Given the description of an element on the screen output the (x, y) to click on. 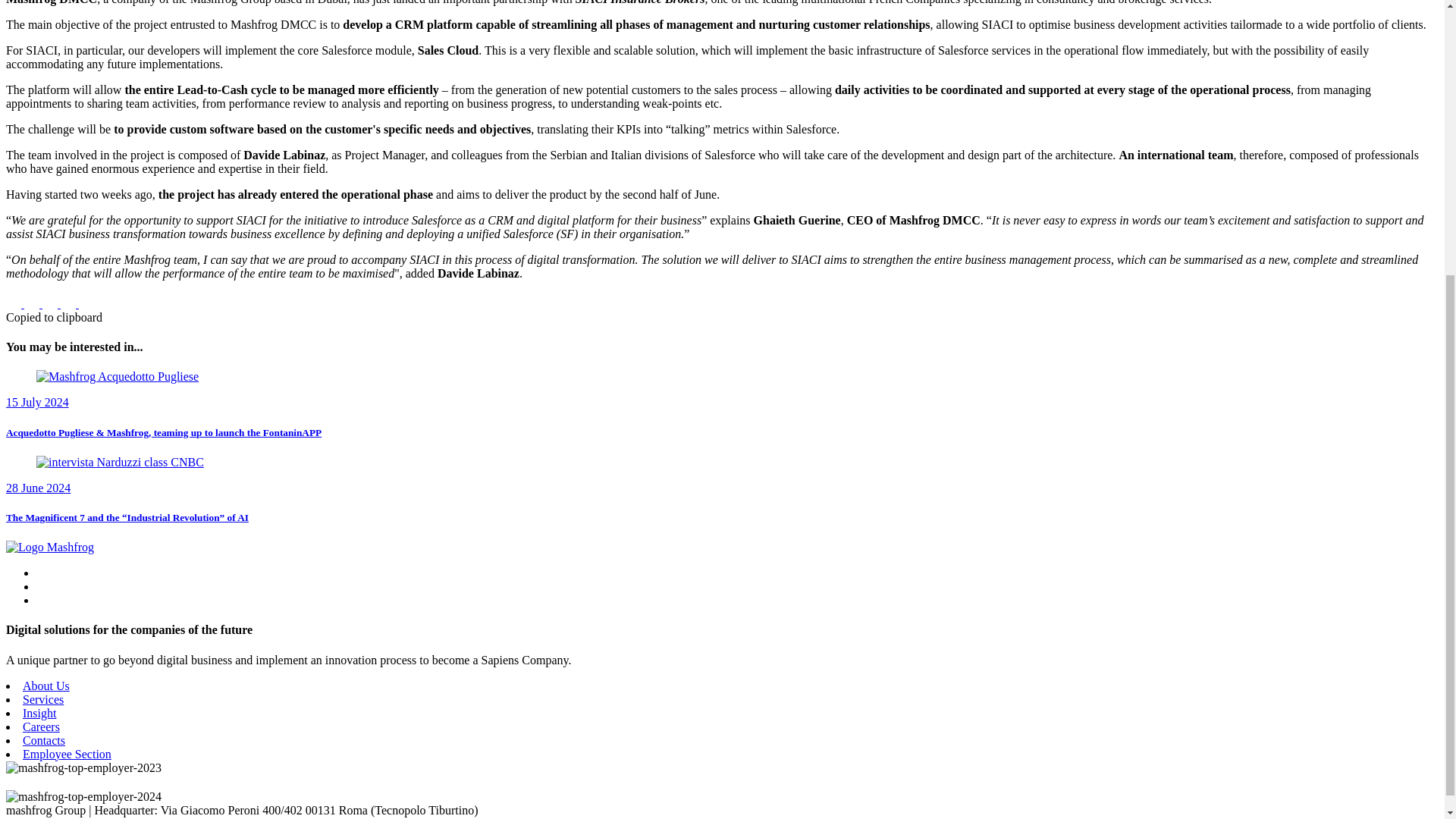
Share to Facebook (14, 303)
Employee Section (67, 753)
Services (43, 698)
About Us (46, 685)
Share to E-mail (69, 303)
Share to Twitter (33, 303)
Careers (41, 726)
Share to Linkedin (51, 303)
Insight (39, 712)
Contacts (44, 739)
